Given the description of an element on the screen output the (x, y) to click on. 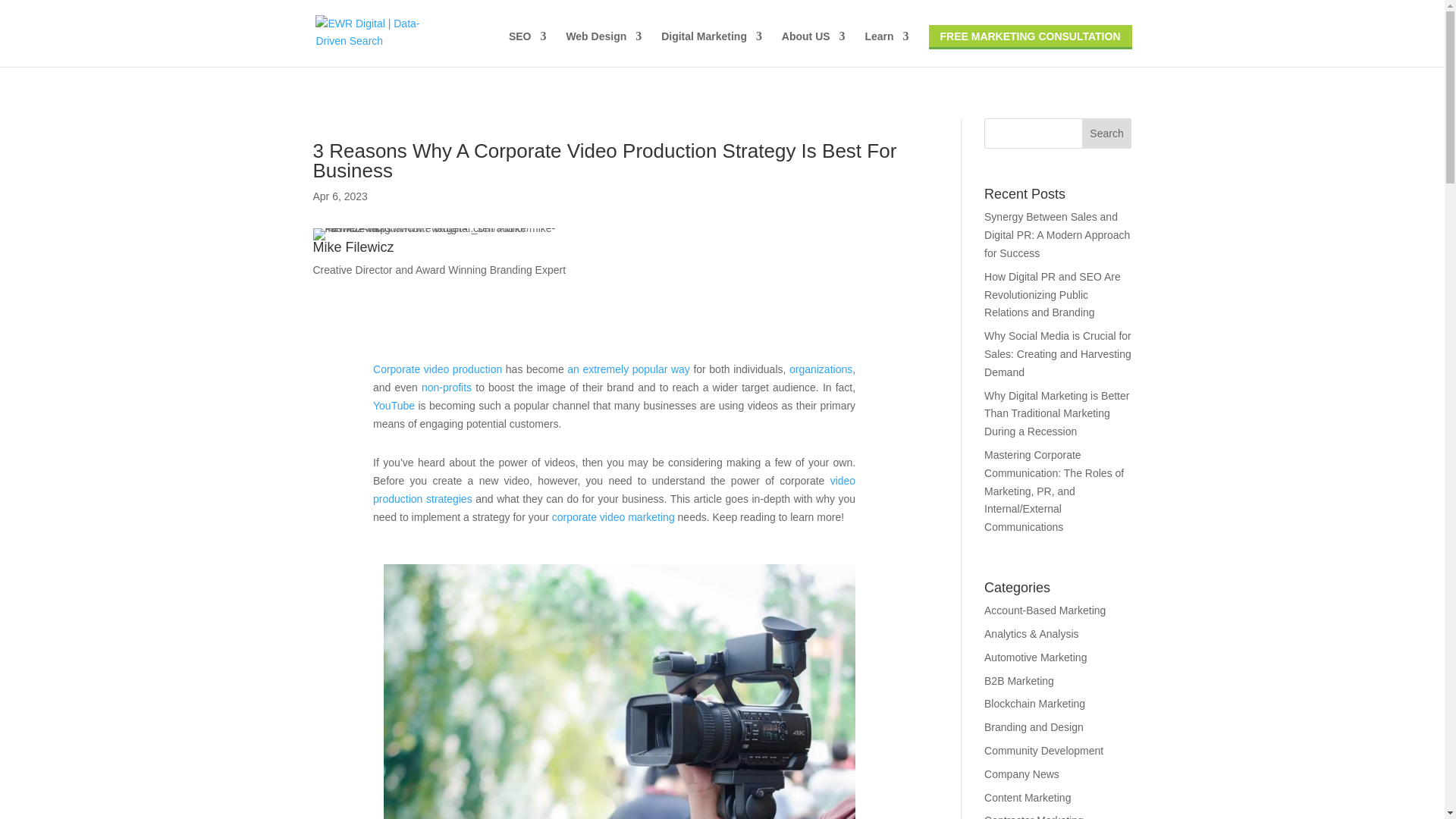
Search (1106, 132)
Web Design (604, 48)
About US (813, 48)
Digital Marketing (711, 48)
SEO (527, 48)
